Given the description of an element on the screen output the (x, y) to click on. 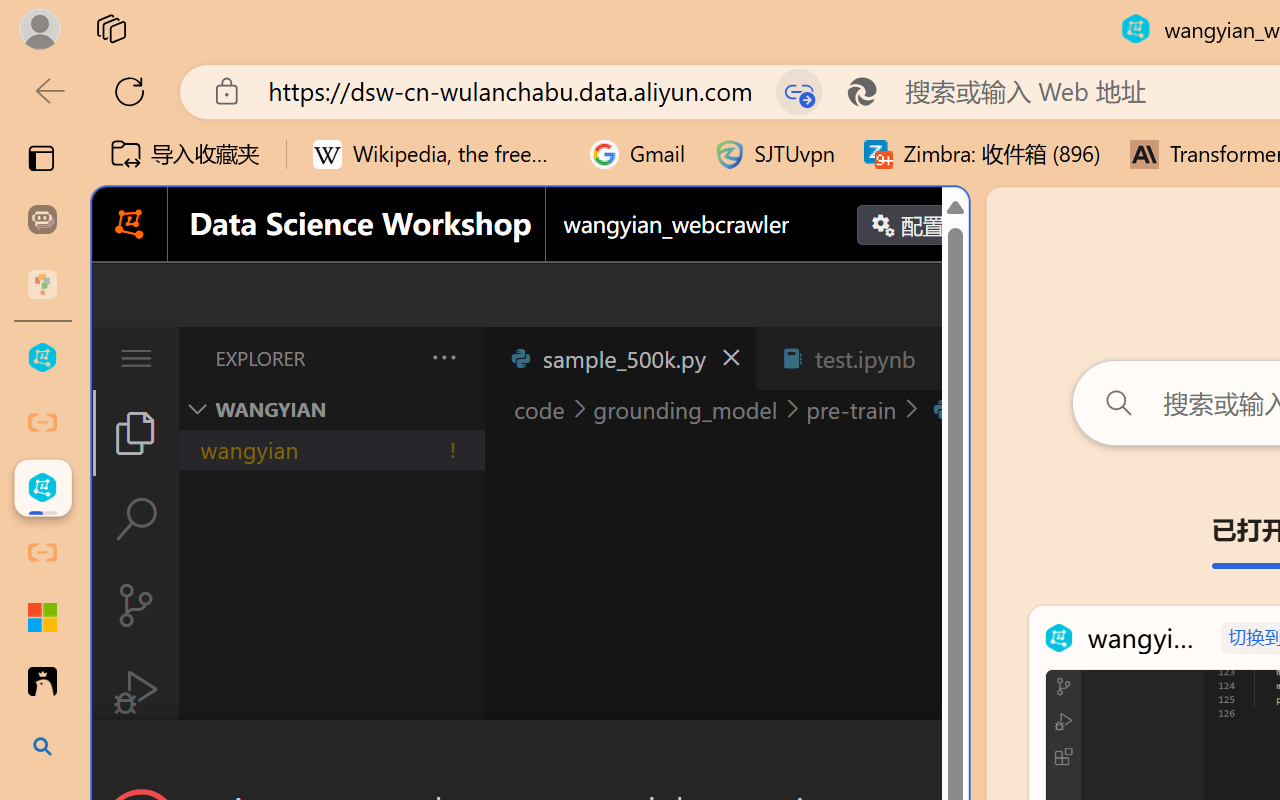
Source Control (Ctrl+Shift+G) (135, 604)
SJTUvpn (774, 154)
Close Dialog (959, 756)
Search (Ctrl+Shift+F) (135, 519)
Close (Ctrl+F4) (946, 358)
Class: actions-container (529, 756)
Views and More Actions... (442, 357)
wangyian_webcrawler - DSW (42, 487)
